Given the description of an element on the screen output the (x, y) to click on. 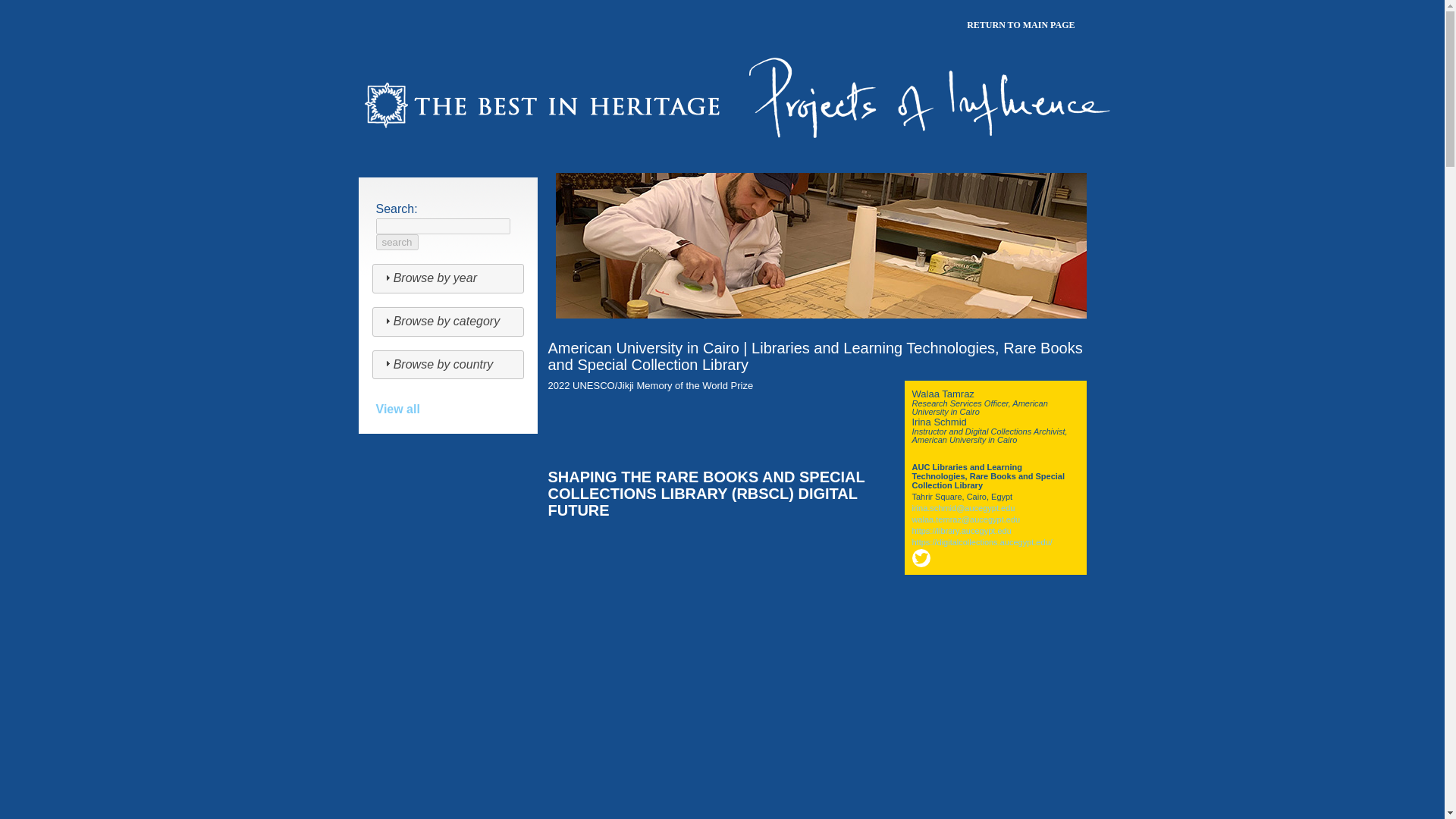
RETURN TO MAIN PAGE (1020, 25)
search (397, 242)
search (397, 242)
